Given the description of an element on the screen output the (x, y) to click on. 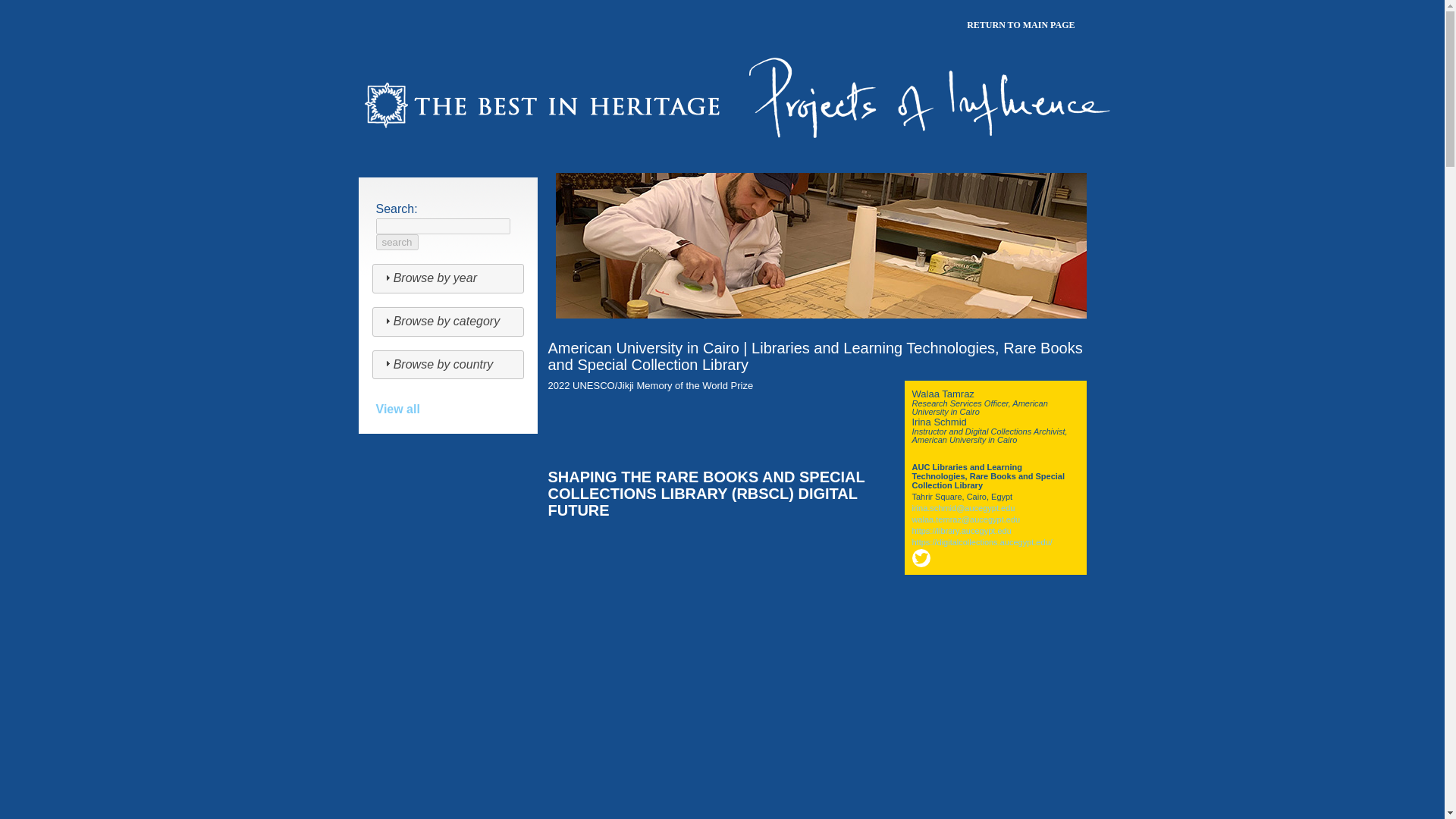
RETURN TO MAIN PAGE (1020, 25)
search (397, 242)
search (397, 242)
